Given the description of an element on the screen output the (x, y) to click on. 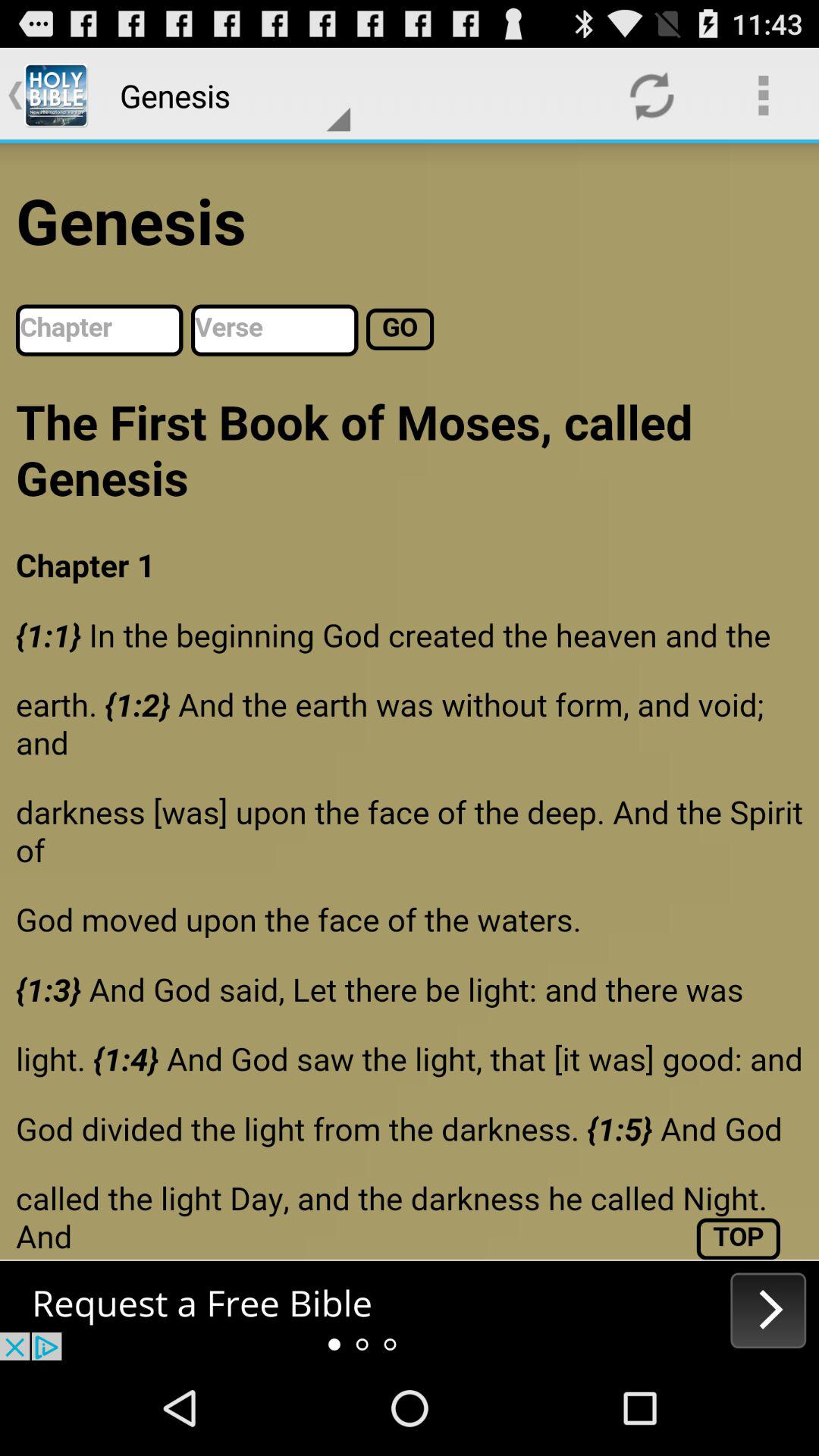
go back option (409, 1310)
